Given the description of an element on the screen output the (x, y) to click on. 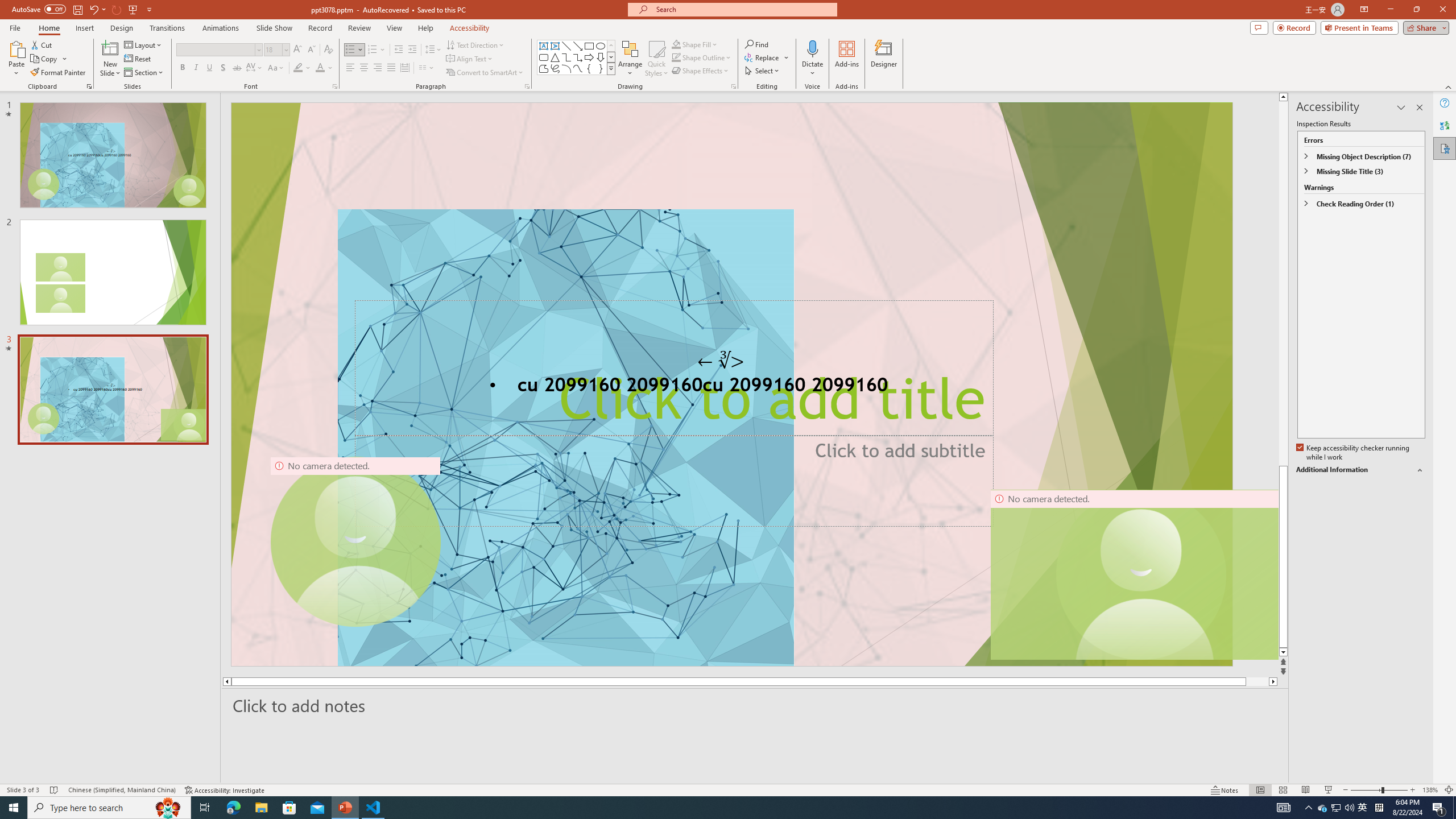
Camera 11, No camera detected. (1141, 574)
TextBox 7 (720, 360)
